Given the description of an element on the screen output the (x, y) to click on. 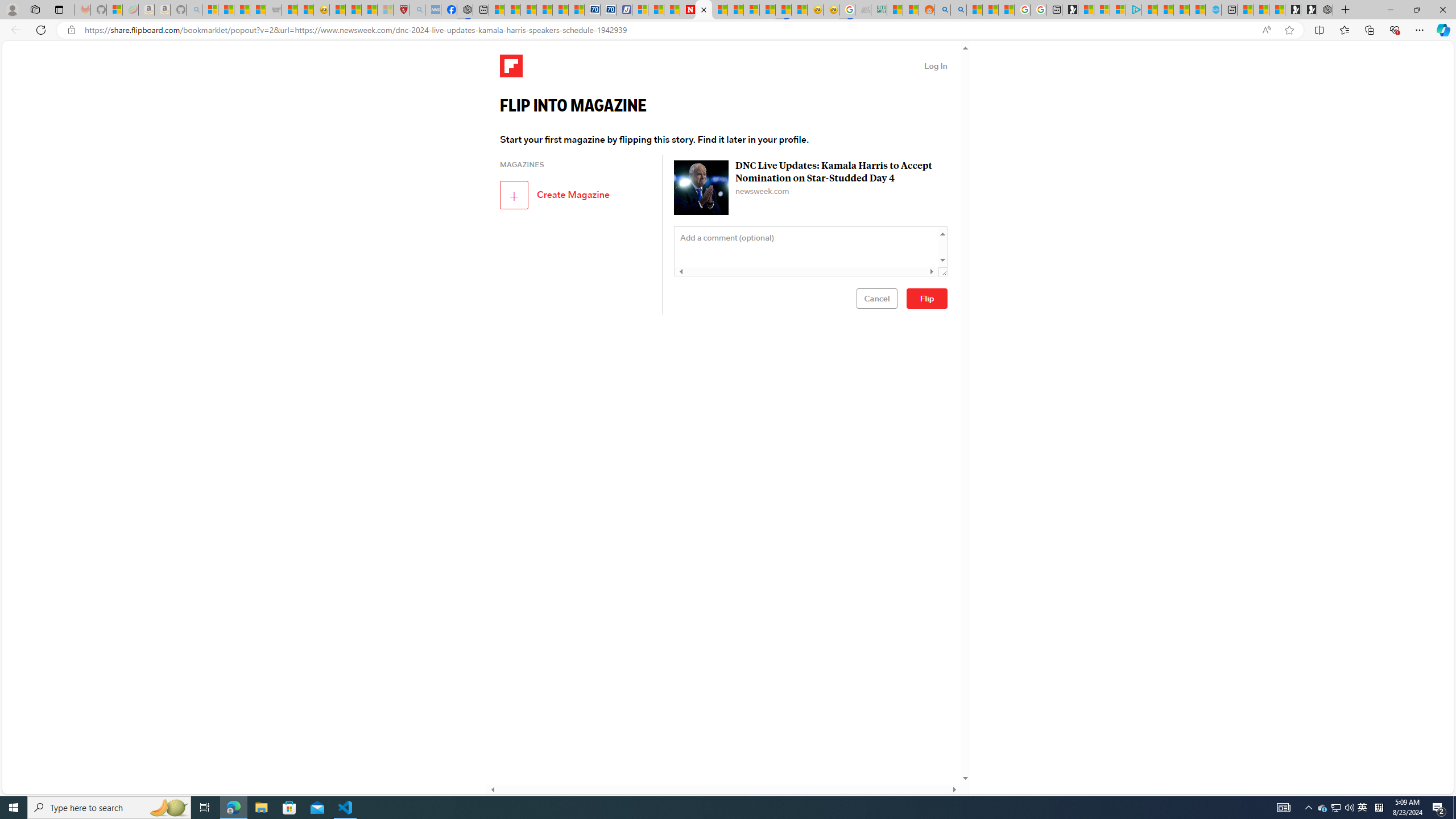
Microsoft-Report a Concern to Bing (114, 9)
Class: logo (510, 65)
14 Common Myths Debunked By Scientific Facts (719, 9)
Nordace - Nordace Siena Is Not An Ordinary Backpack (1324, 9)
Play Free Online Games | Games from Microsoft Start (1308, 9)
App bar (728, 29)
